Given the description of an element on the screen output the (x, y) to click on. 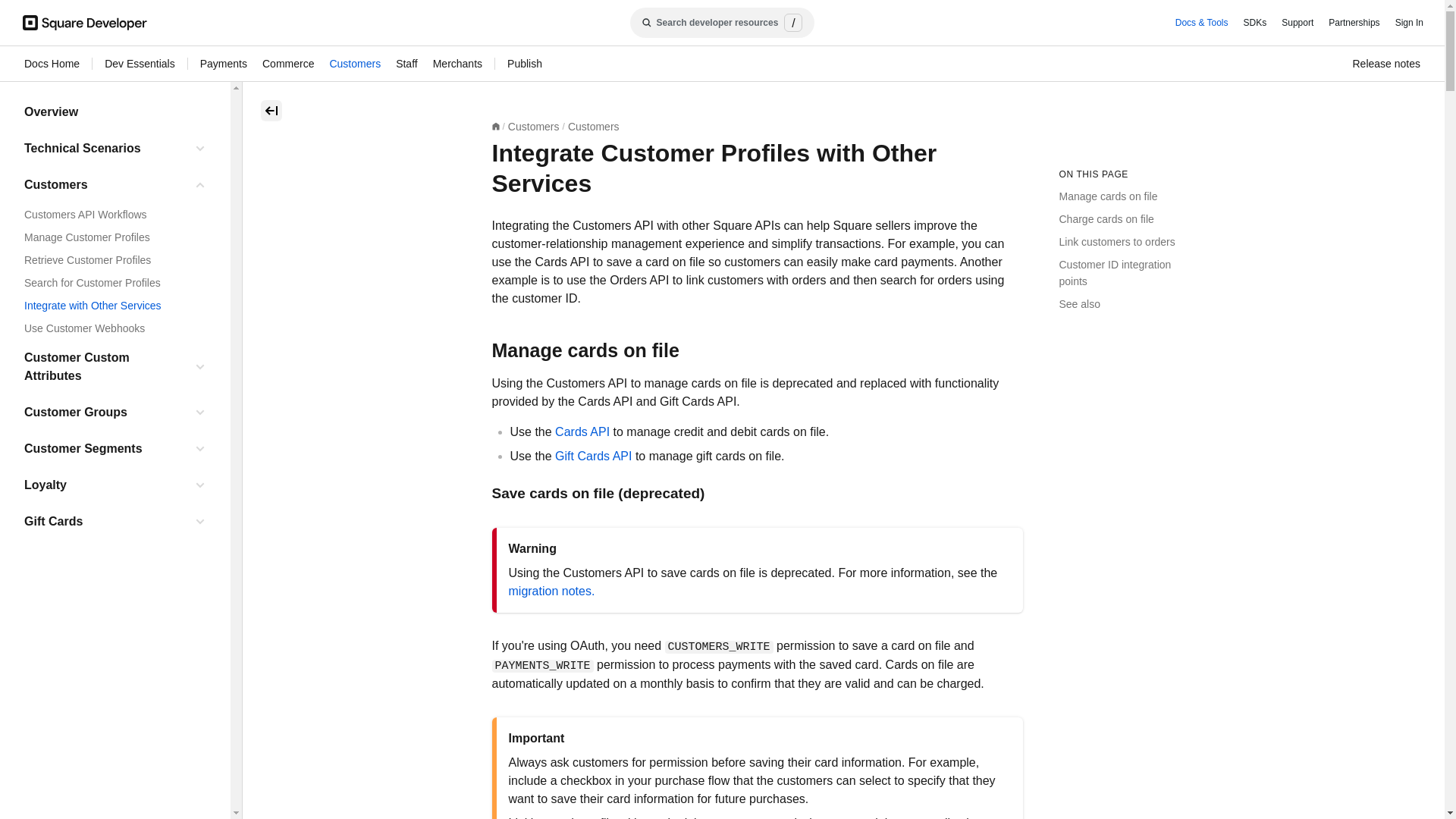
Overview (114, 112)
Merchants (456, 63)
Publish (523, 63)
Partnerships (1353, 22)
Customers (354, 63)
Docs Home (52, 63)
SDKs (1255, 22)
Payments (223, 63)
Sign In (1409, 22)
Support (1296, 22)
Technical Scenarios (104, 148)
Staff (406, 63)
Release notes (1386, 63)
Dev Essentials (139, 63)
